Given the description of an element on the screen output the (x, y) to click on. 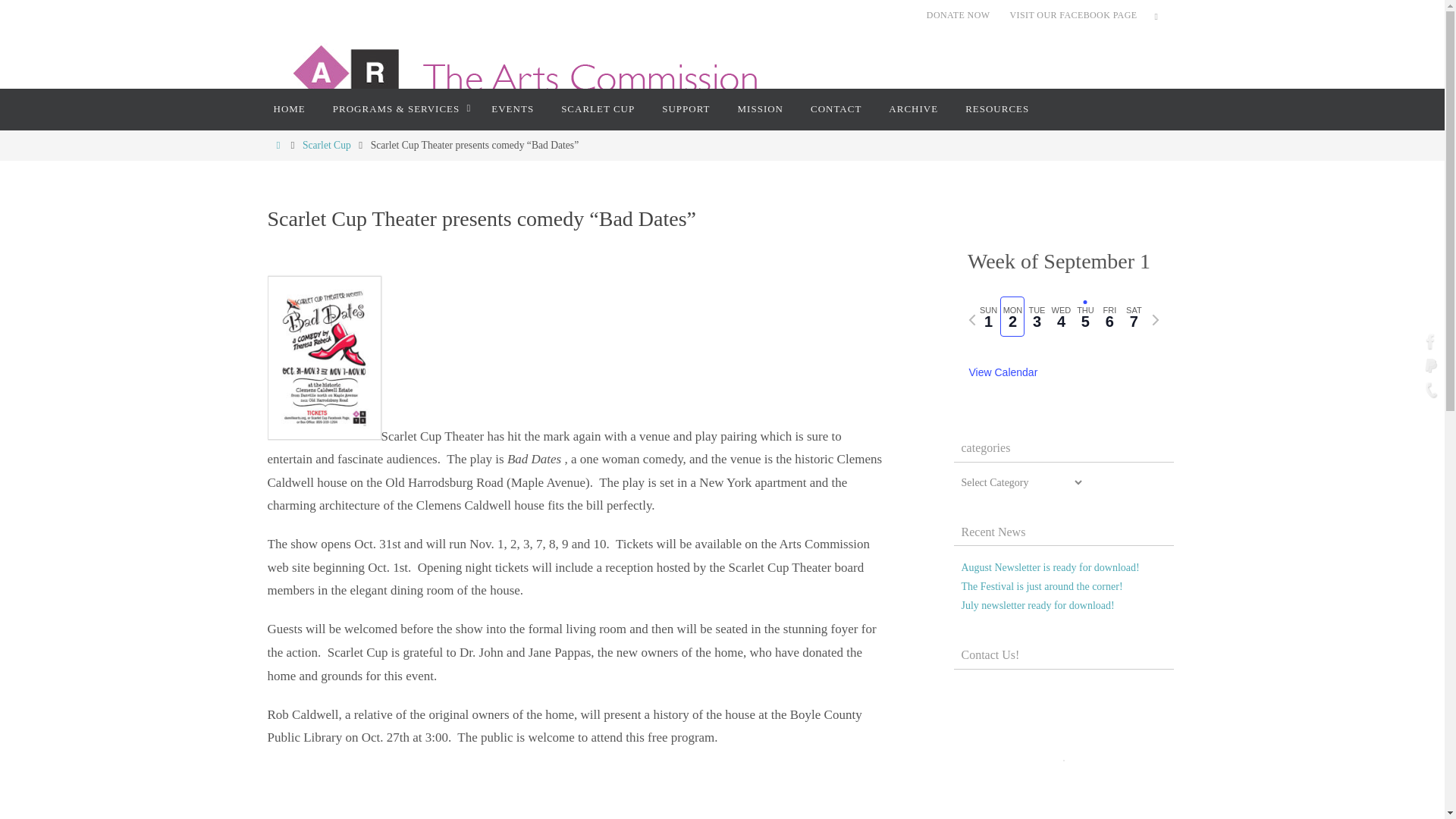
VISIT OUR FACEBOOK PAGE (1072, 14)
SCARLET CUP (597, 109)
DONATE NOW (957, 14)
EVENTS (512, 109)
Scarlet Cup (326, 144)
RESOURCES (997, 109)
MISSION (759, 109)
ARCHIVE (913, 109)
SUPPORT (685, 109)
